Given the description of an element on the screen output the (x, y) to click on. 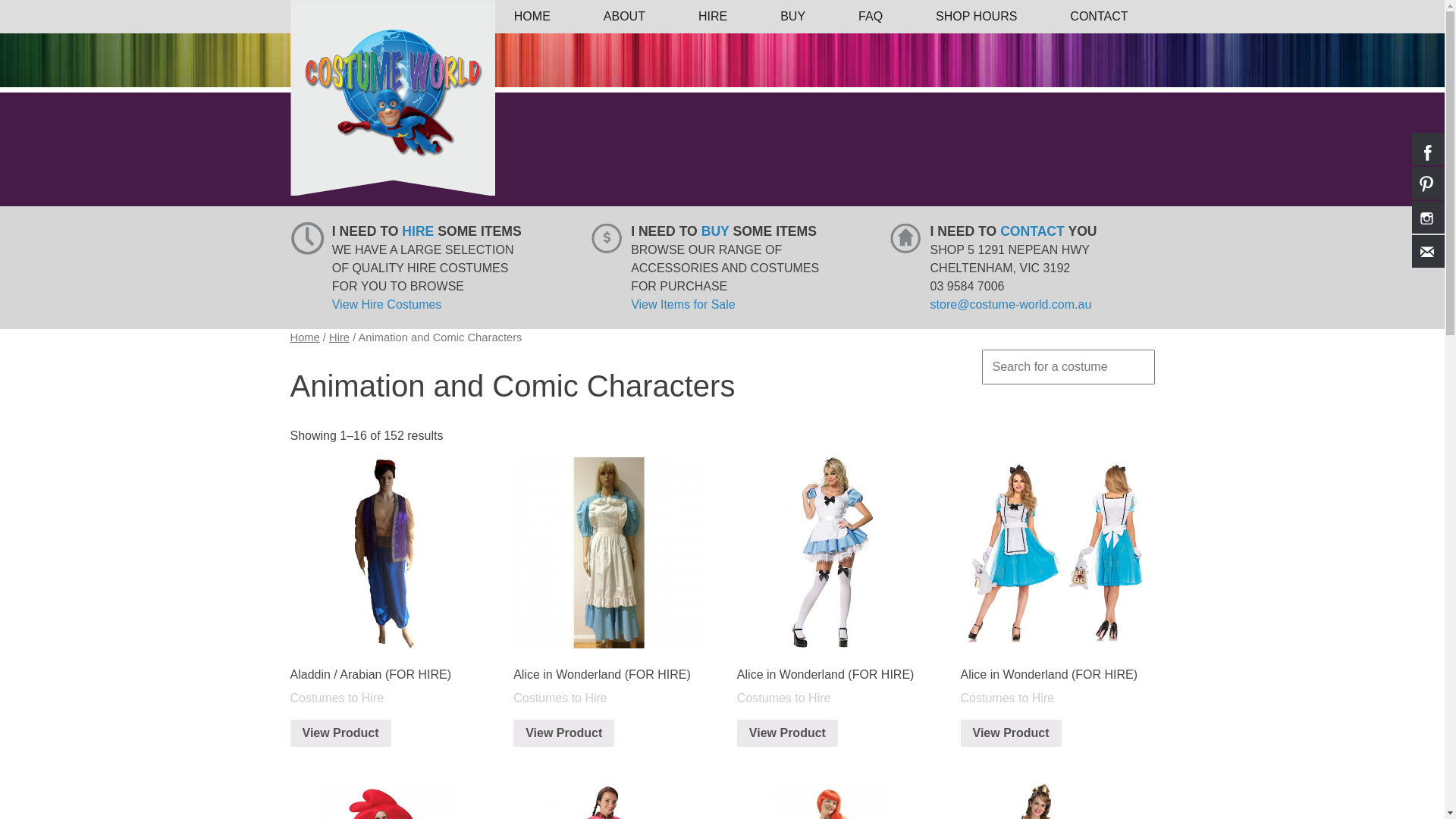
Alice in Wonderland (FOR HIRE)
Costumes to Hire Element type: text (1055, 580)
Alice in Wonderland (FOR HIRE)
Costumes to Hire Element type: text (608, 580)
HIRE Element type: text (712, 16)
View Product Element type: text (1010, 732)
View Product Element type: text (787, 732)
HOME Element type: text (532, 16)
BUY Element type: text (792, 16)
View Items for Sale Element type: text (682, 304)
FAQ Element type: text (870, 16)
View Product Element type: text (563, 732)
SHOP HOURS Element type: text (976, 16)
ABOUT Element type: text (624, 16)
View Hire Costumes Element type: text (387, 304)
Home Element type: text (304, 337)
store@costume-world.com.au Element type: text (1011, 304)
View Product Element type: text (339, 732)
CONTACT Element type: text (1098, 16)
Hire Element type: text (339, 337)
Aladdin / Arabian (FOR HIRE)
Costumes to Hire Element type: text (384, 580)
Alice in Wonderland (FOR HIRE)
Costumes to Hire Element type: text (832, 580)
